Given the description of an element on the screen output the (x, y) to click on. 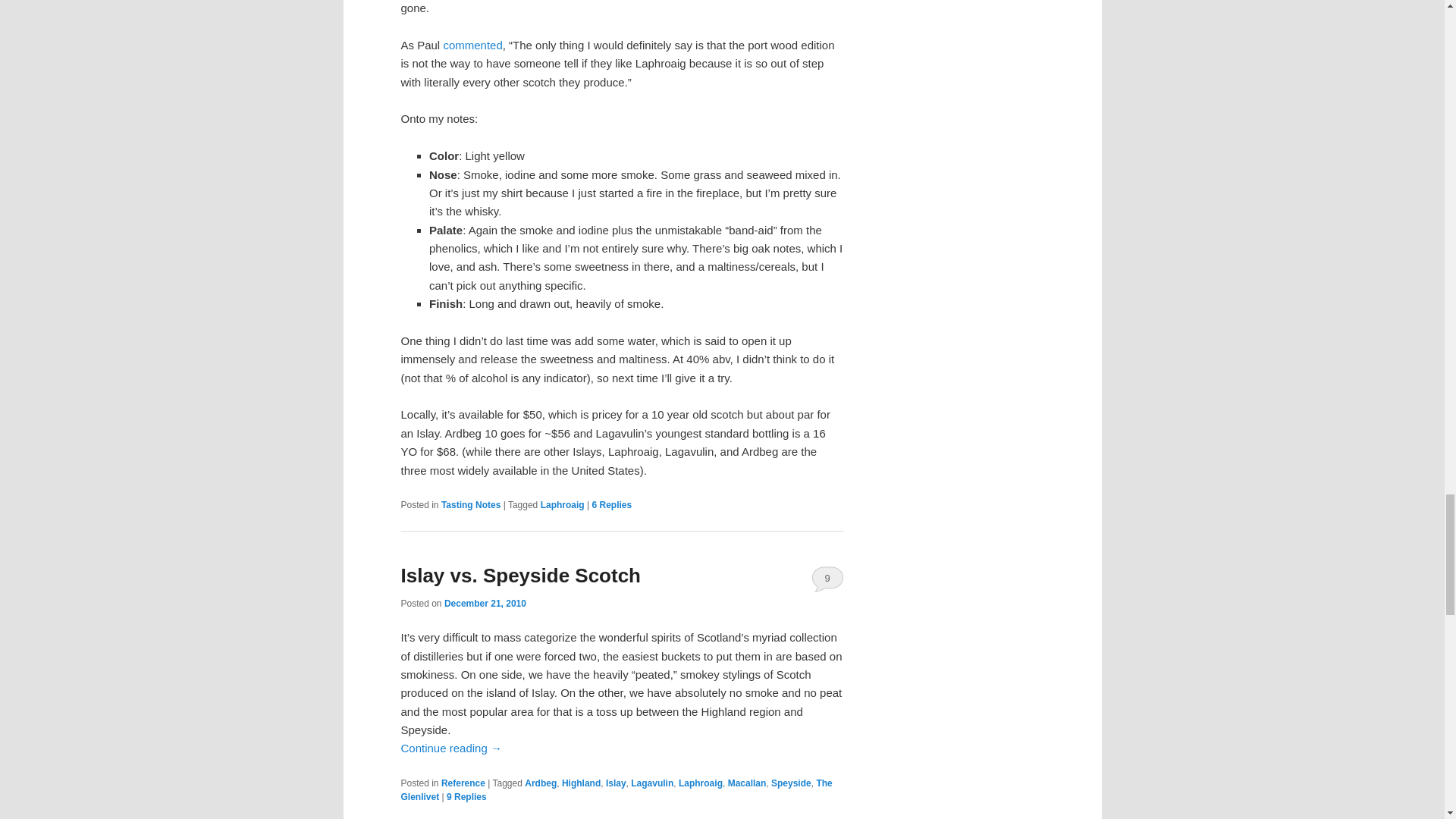
Laphroaig (562, 504)
Reference (462, 783)
Laphroaig (700, 783)
Ardbeg (540, 783)
Lagavulin (651, 783)
1:15 pm (484, 603)
Highland (580, 783)
Islay (615, 783)
9 (827, 578)
December 21, 2010 (484, 603)
6 Replies (611, 504)
Tasting Notes (470, 504)
Islay vs. Speyside Scotch (520, 575)
commented (472, 44)
